Given the description of an element on the screen output the (x, y) to click on. 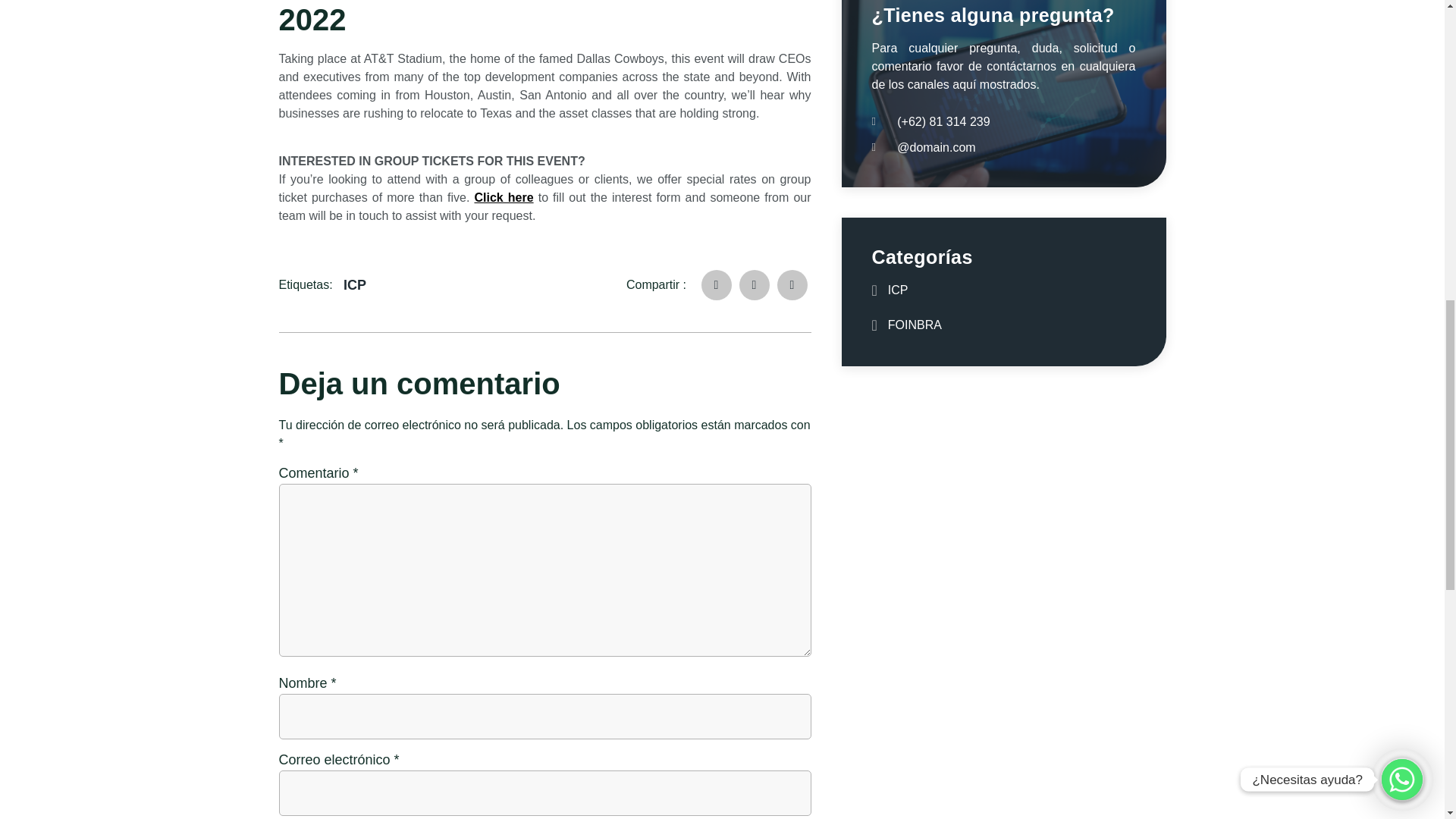
FOINBRA (917, 325)
ICP (901, 290)
Click here (395, 196)
